Given the description of an element on the screen output the (x, y) to click on. 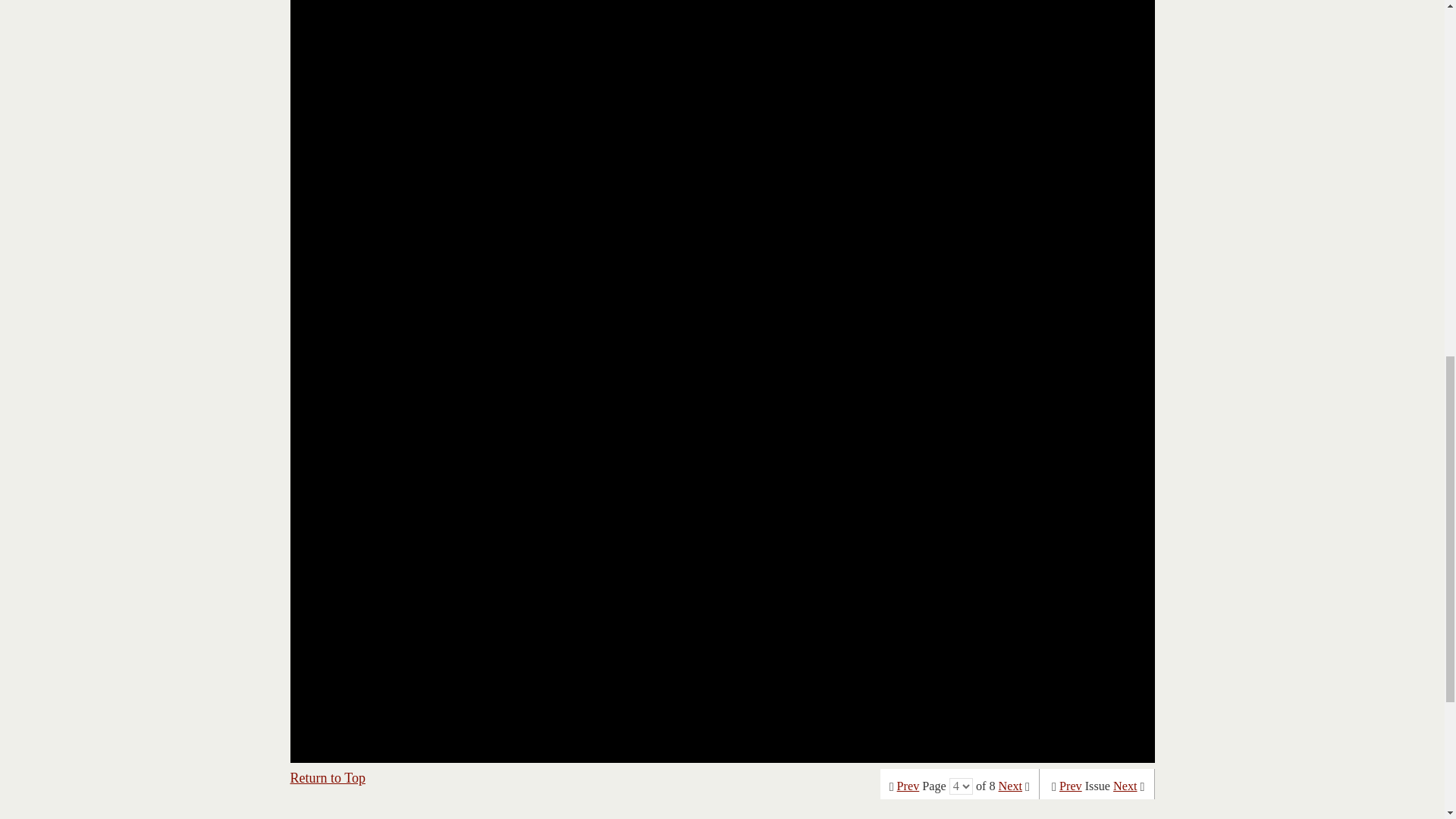
Prev (908, 786)
Next (1010, 786)
Next (1125, 786)
Return to Top (327, 777)
Prev (1070, 786)
